Given the description of an element on the screen output the (x, y) to click on. 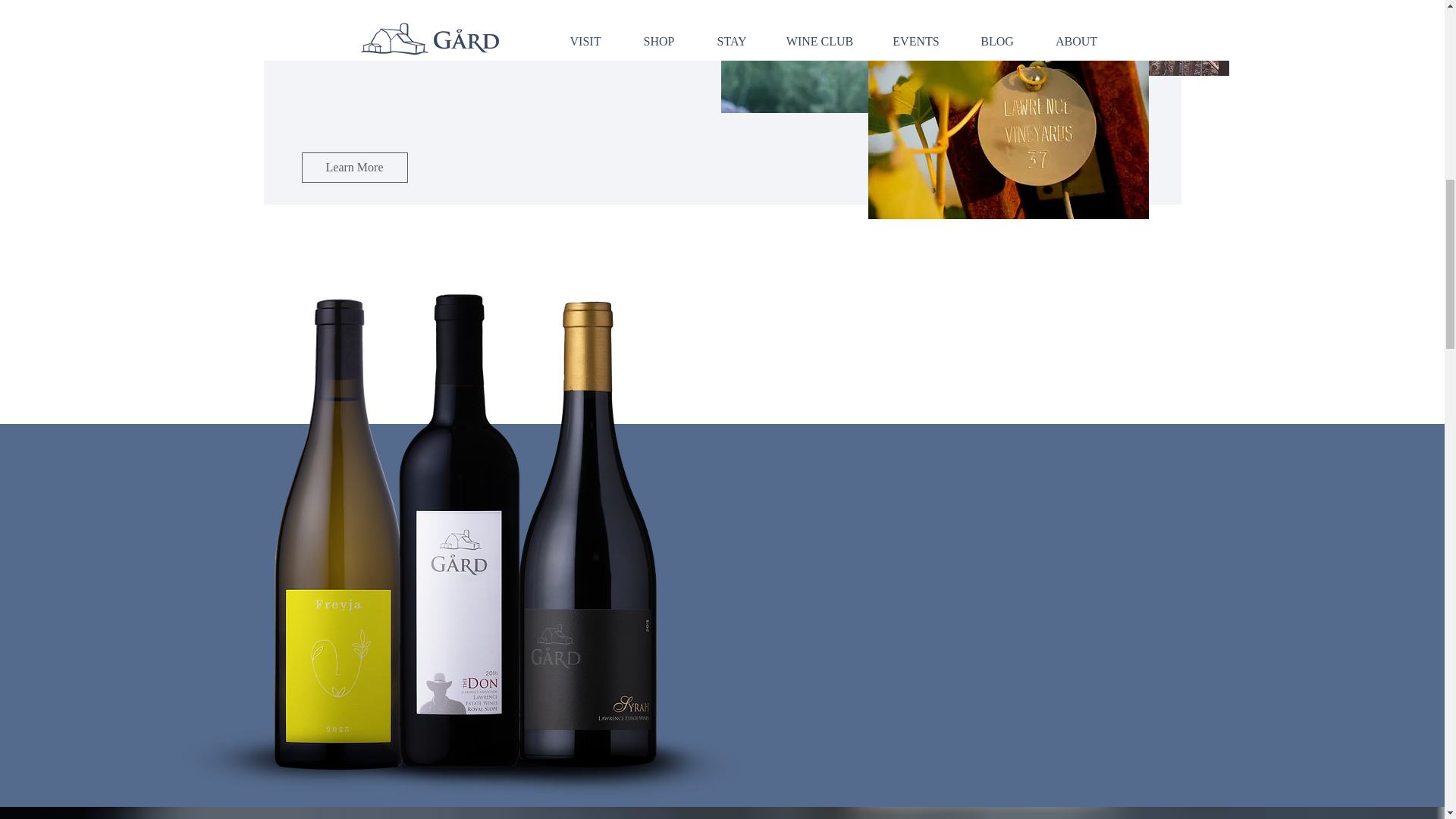
Learn More (354, 167)
